Given the description of an element on the screen output the (x, y) to click on. 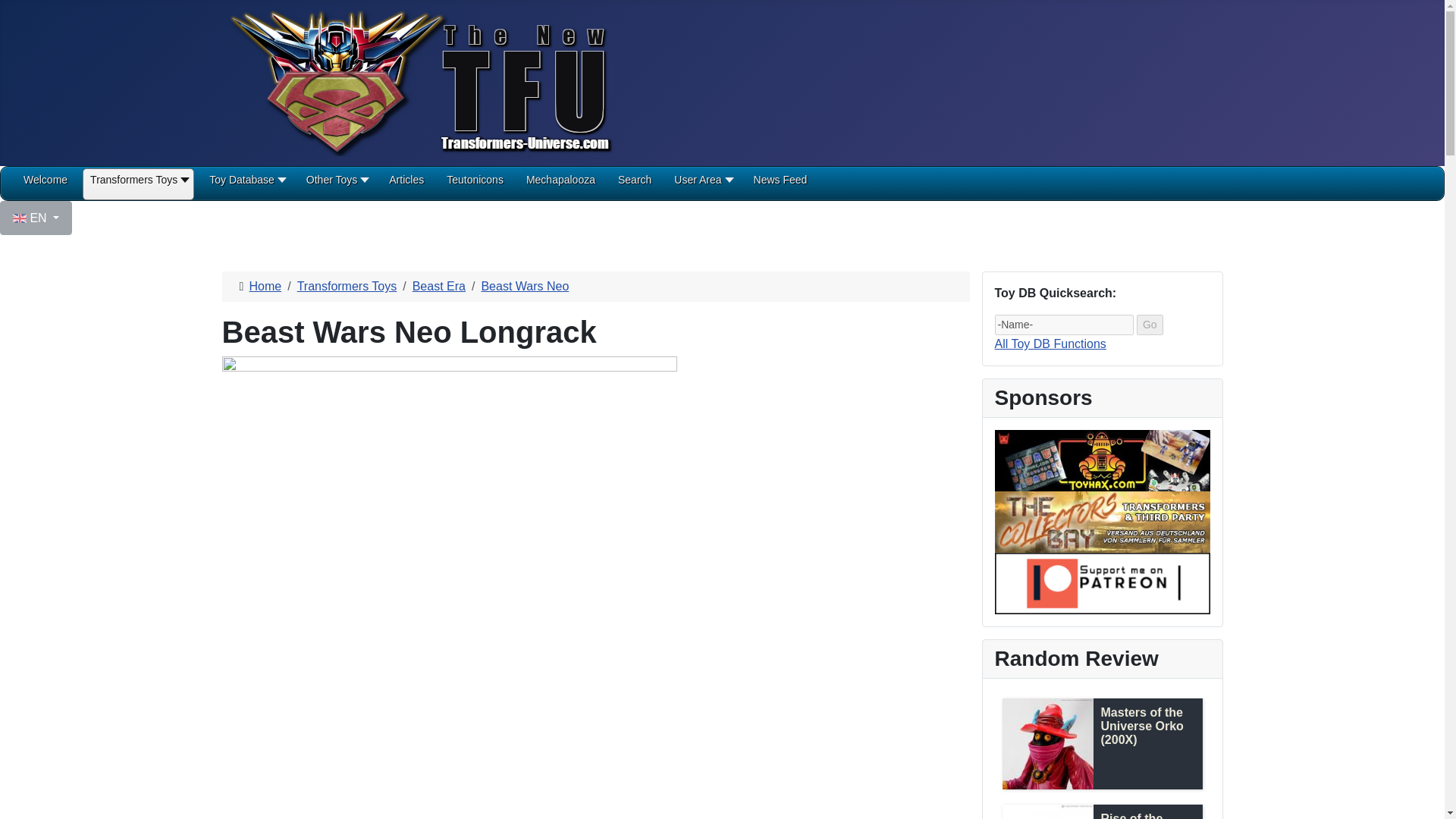
Welcome (44, 184)
Transformers Toys (138, 184)
-Name- (1064, 324)
Go (1150, 324)
